Given the description of an element on the screen output the (x, y) to click on. 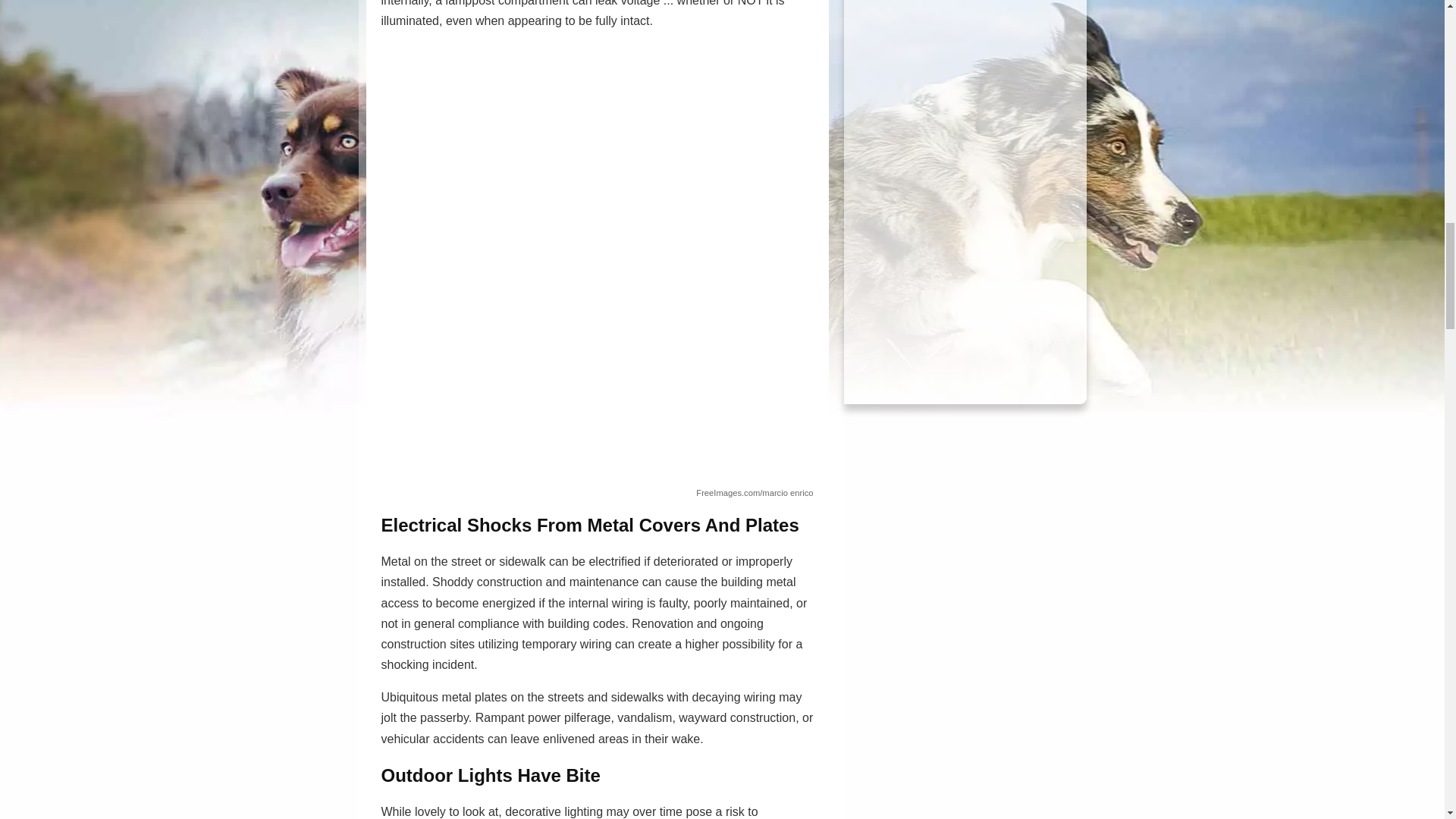
CLICK FOR ONLINE PUZZLE OF THIS PHOTO... (964, 246)
CLICK FOR ONLINE PUZZLE OF THIS PHOTO... (964, 66)
